Given the description of an element on the screen output the (x, y) to click on. 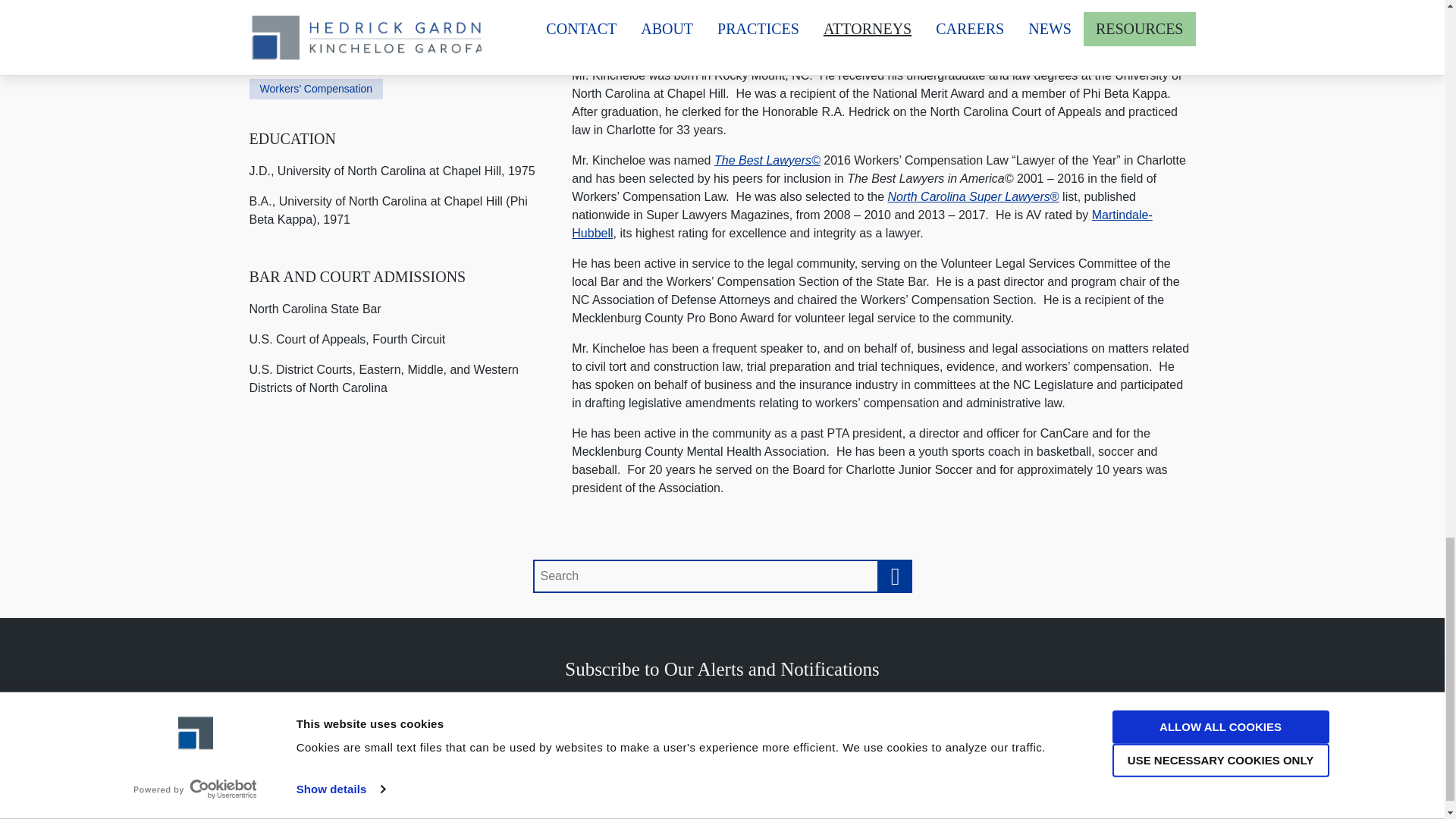
Email Subscription Page (721, 669)
Legal Marketing Agency (832, 750)
SEO for Law Firms (742, 750)
Attorney Web Design (635, 750)
